Given the description of an element on the screen output the (x, y) to click on. 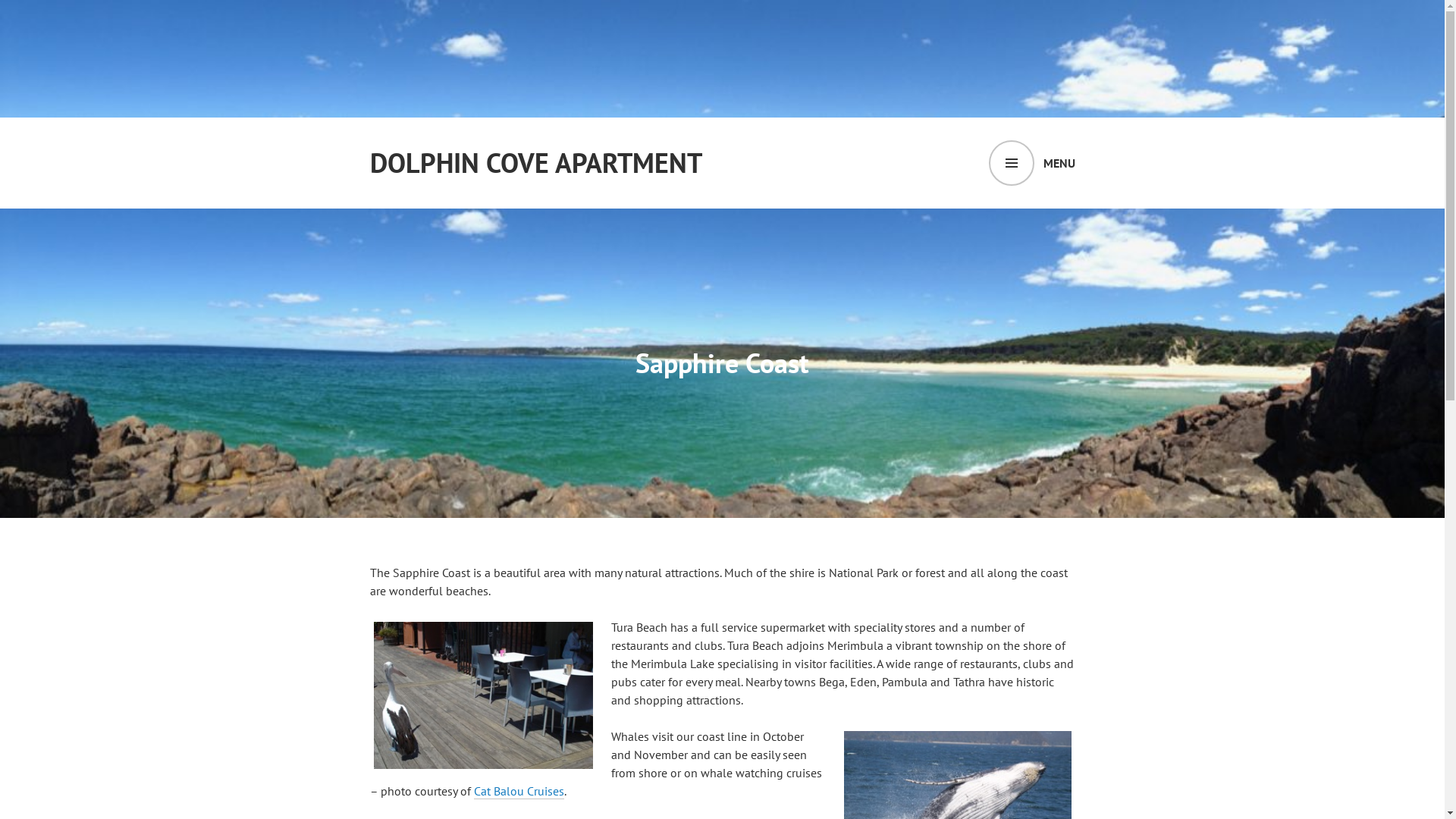
DOLPHIN COVE APARTMENT Element type: text (536, 162)
MENU Element type: text (1031, 162)
Cat Balou Cruises Element type: text (518, 791)
